Given the description of an element on the screen output the (x, y) to click on. 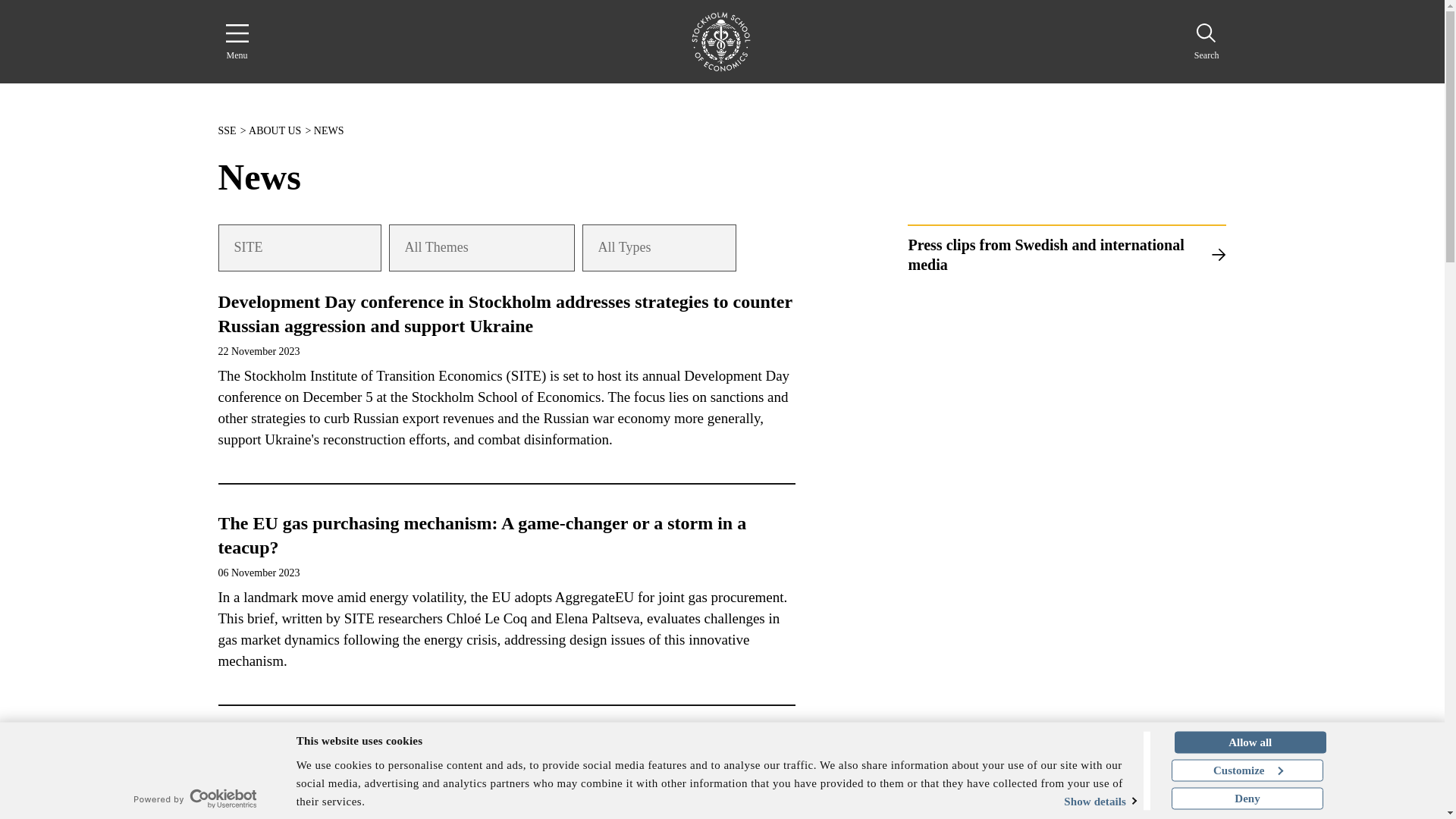
Show details (1078, 800)
